Given the description of an element on the screen output the (x, y) to click on. 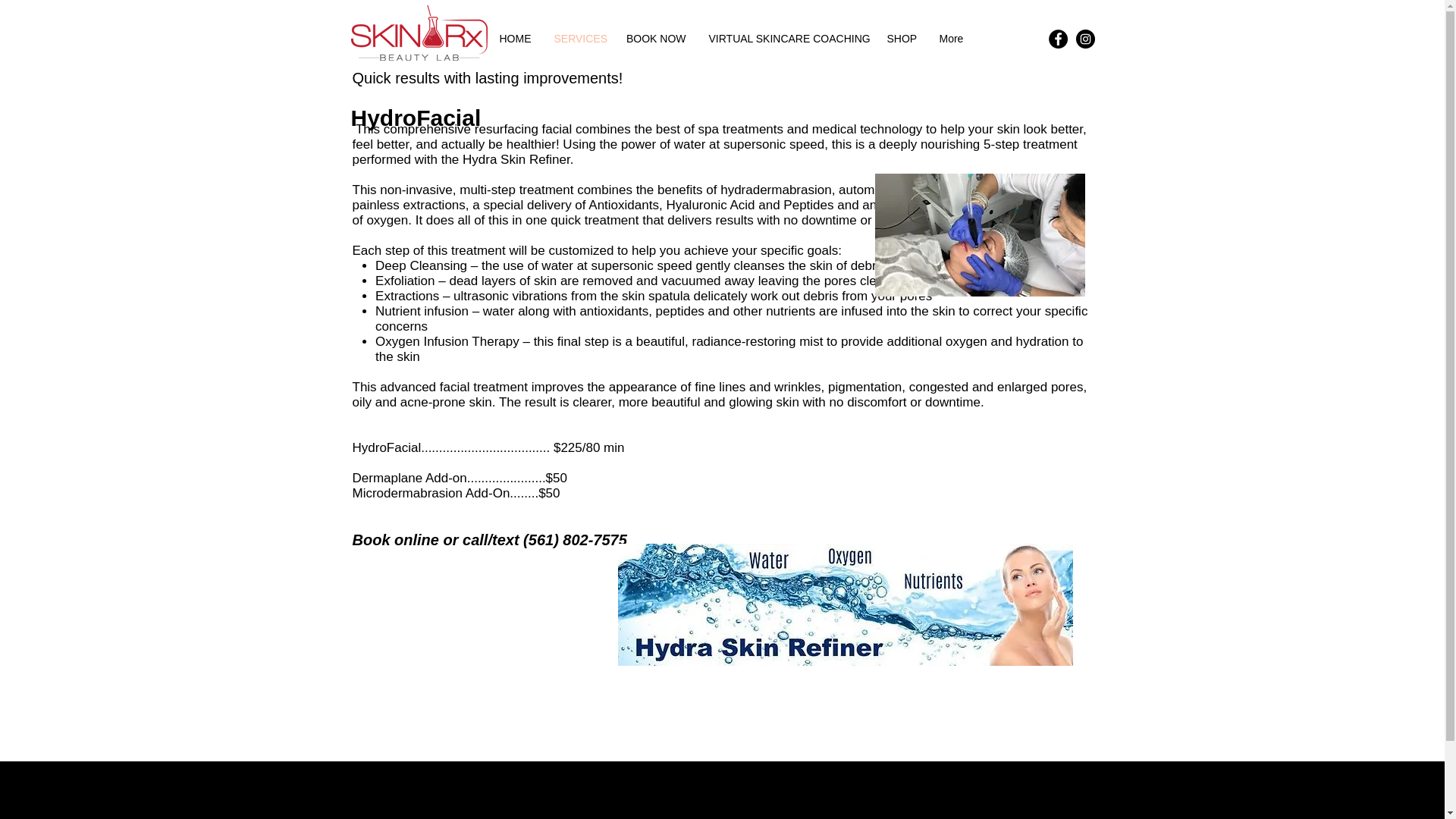
HOME (513, 38)
SERVICES (578, 38)
VIRTUAL SKINCARE COACHING (786, 38)
BOOK NOW (655, 38)
SHOP (901, 38)
